Given the description of an element on the screen output the (x, y) to click on. 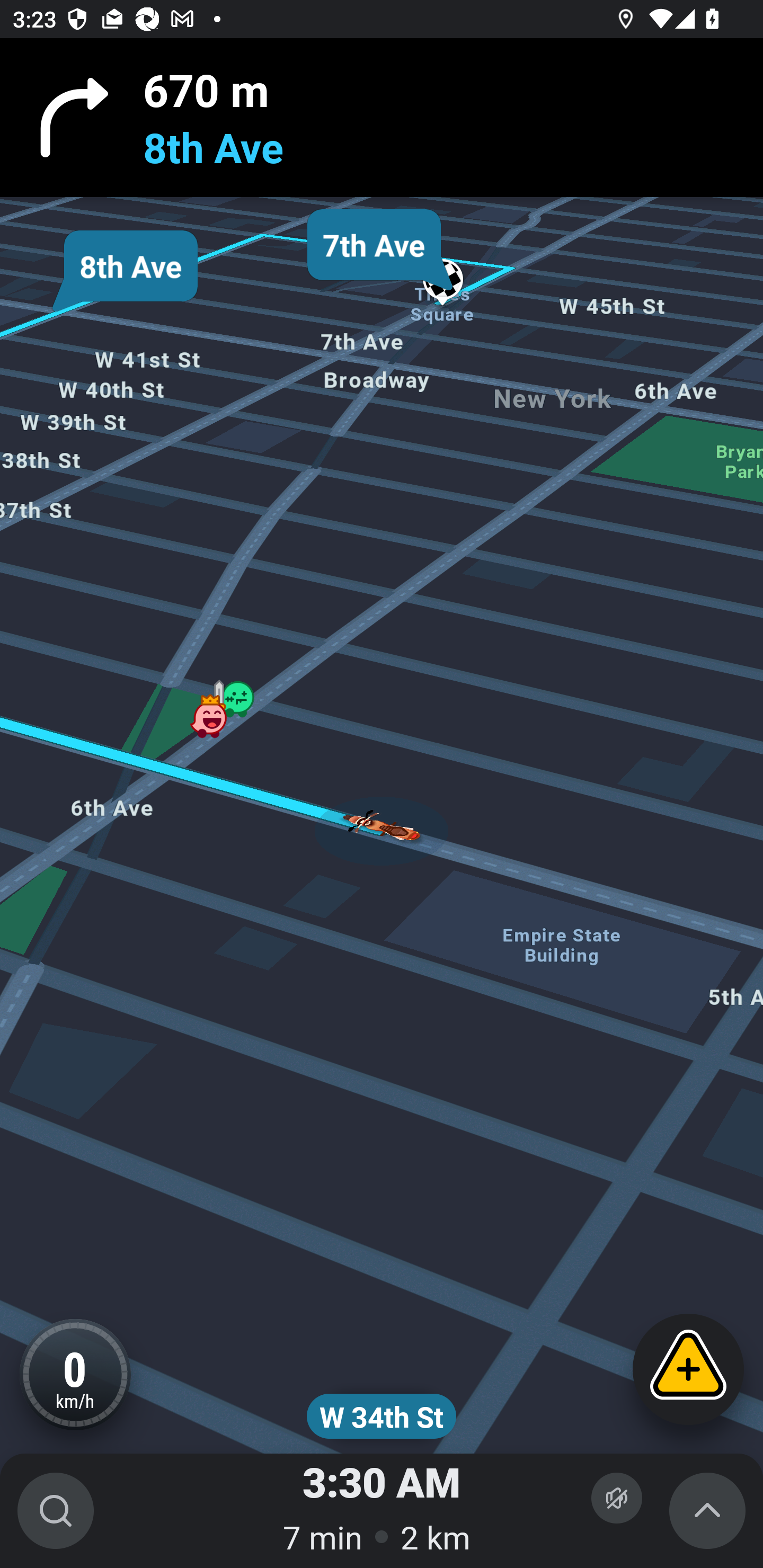
670 m 8th Ave (381, 117)
3:30 AM 7 min 2 km (381, 1510)
